Given the description of an element on the screen output the (x, y) to click on. 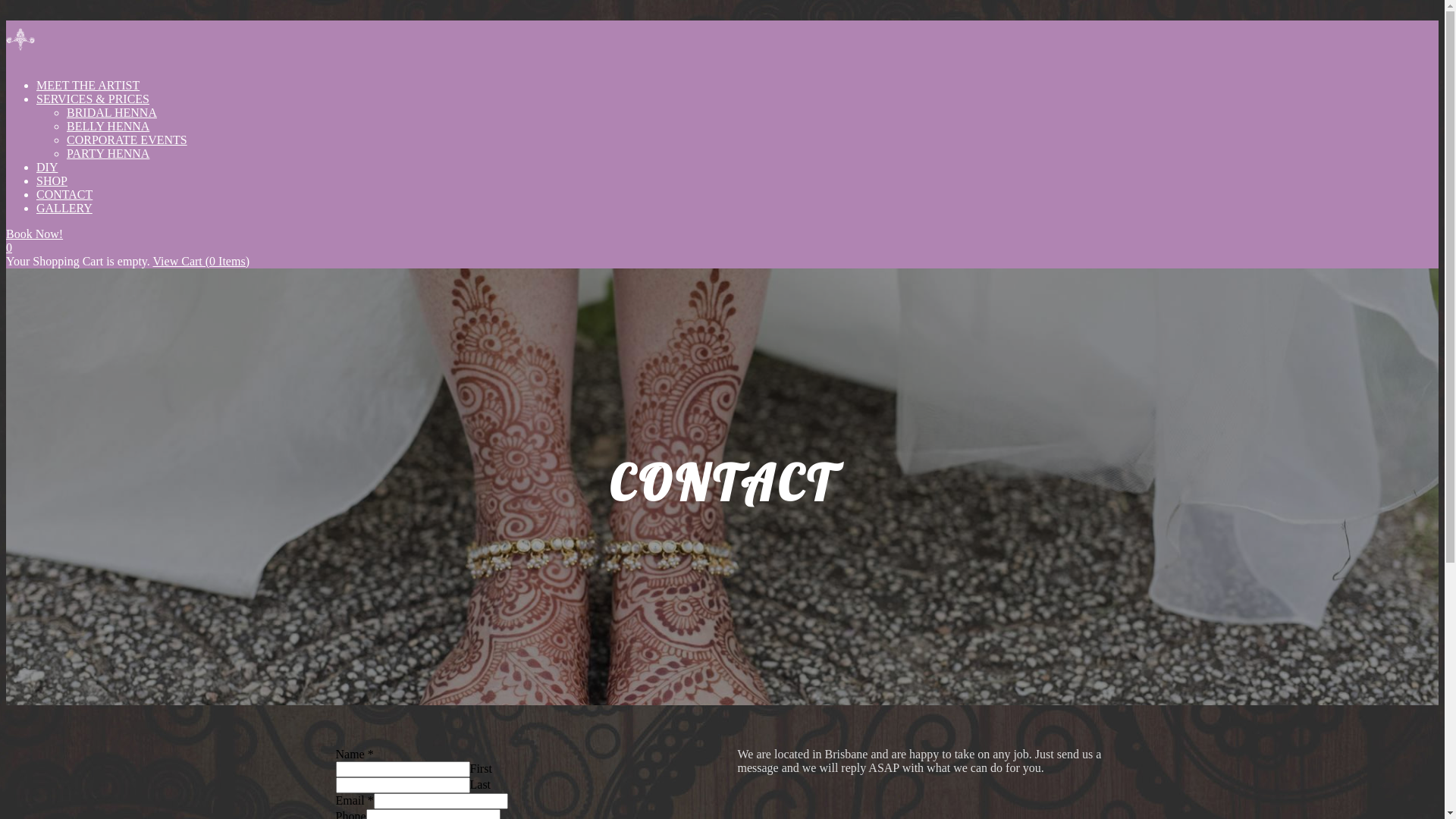
SERVICES & PRICES Element type: text (92, 98)
View Cart (0 Items) Element type: text (201, 260)
BELLY HENNA Element type: text (107, 125)
CONTACT Element type: text (64, 194)
CORPORATE EVENTS Element type: text (126, 139)
DIY Element type: text (46, 166)
SHOP Element type: text (51, 180)
MEET THE ARTIST Element type: text (87, 84)
BRIDAL HENNA Element type: text (111, 112)
GALLERY Element type: text (64, 207)
Skip to content Element type: text (5, 19)
PARTY HENNA Element type: text (107, 153)
0 Element type: text (9, 247)
Book Now! Element type: text (34, 233)
